Given the description of an element on the screen output the (x, y) to click on. 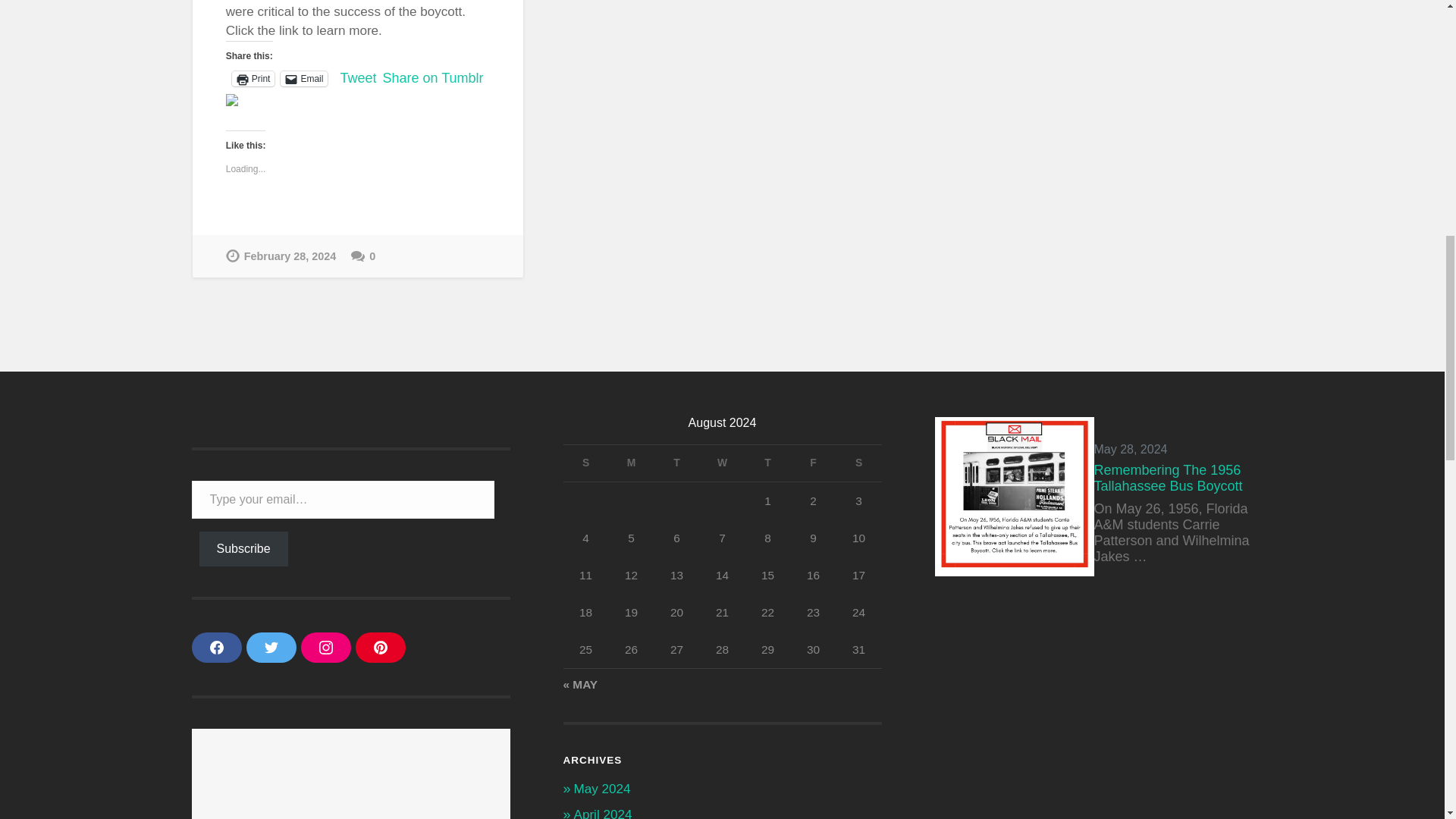
February 28, 2024 (280, 256)
Twitter (270, 647)
Pinterest (379, 647)
Subscribe (242, 548)
Facebook (215, 647)
Tuesday (675, 463)
Instagram (324, 647)
Share on Tumblr (432, 78)
Share on Tumblr (432, 78)
Print (253, 78)
